Given the description of an element on the screen output the (x, y) to click on. 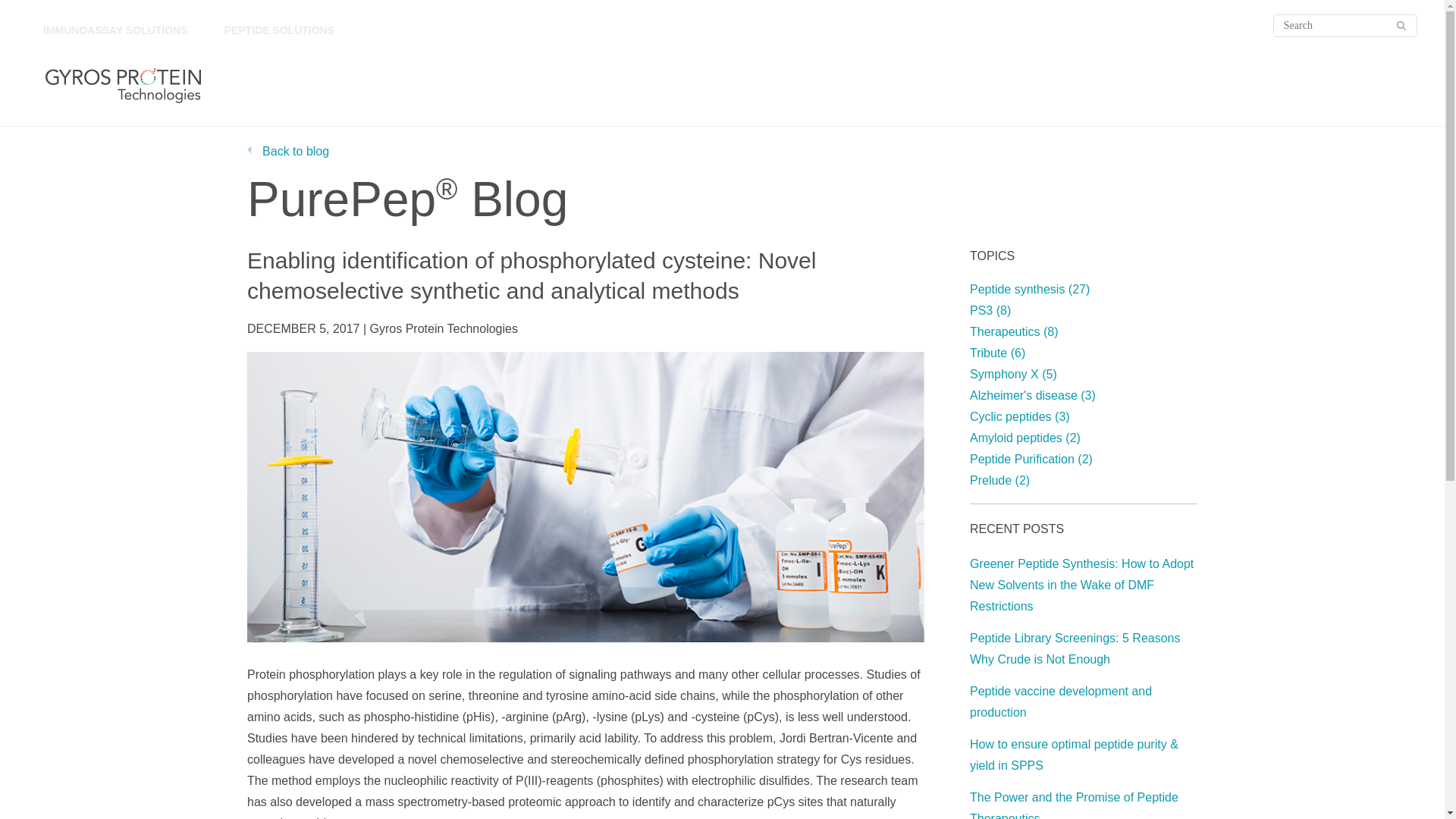
Gyros Protein Technologies (122, 84)
IMMUNOASSAY SOLUTIONS (115, 31)
PEPTIDE SOLUTIONS (279, 31)
